Given the description of an element on the screen output the (x, y) to click on. 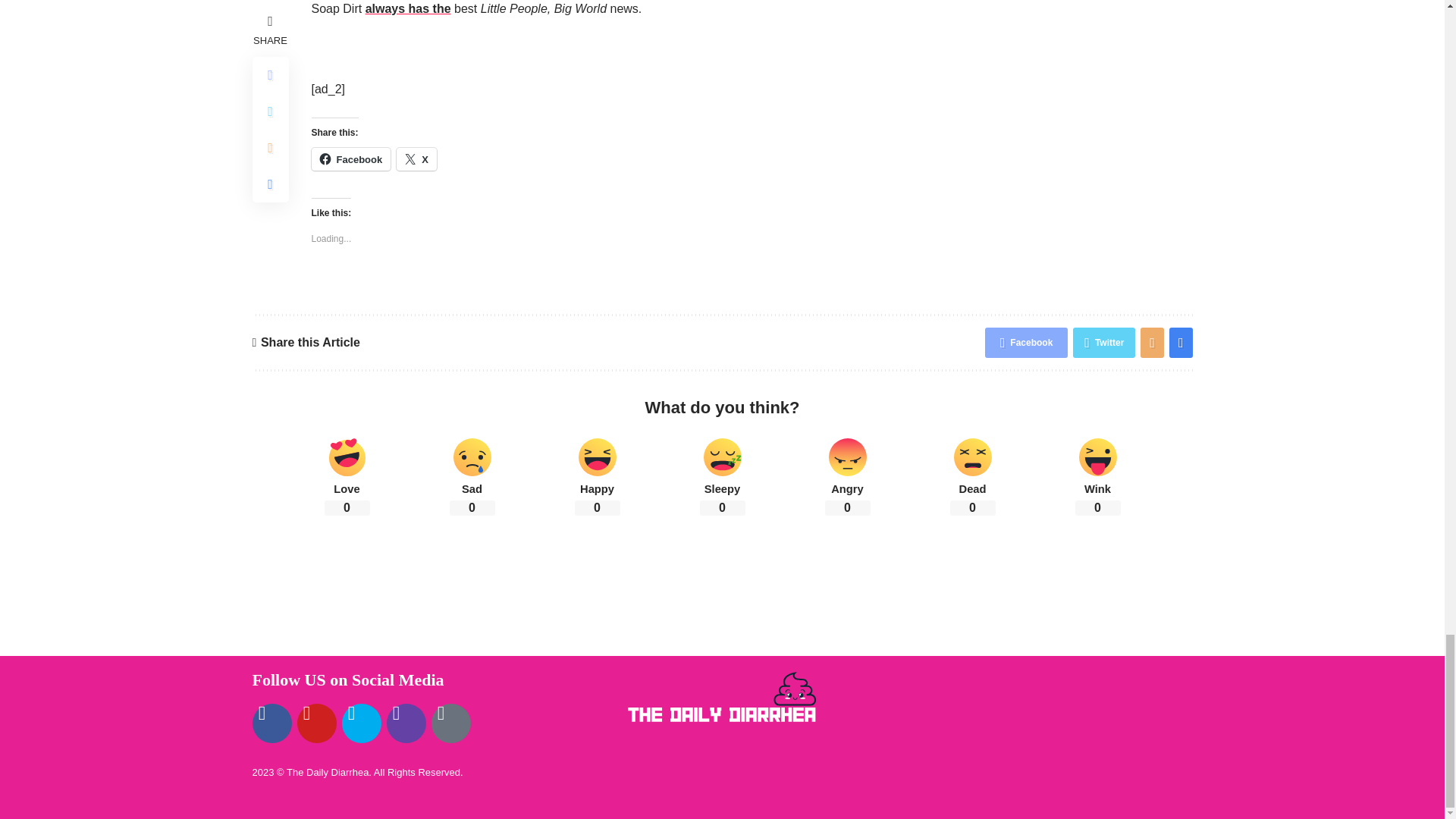
Click to share on Facebook (350, 159)
Click to share on X (416, 159)
